Given the description of an element on the screen output the (x, y) to click on. 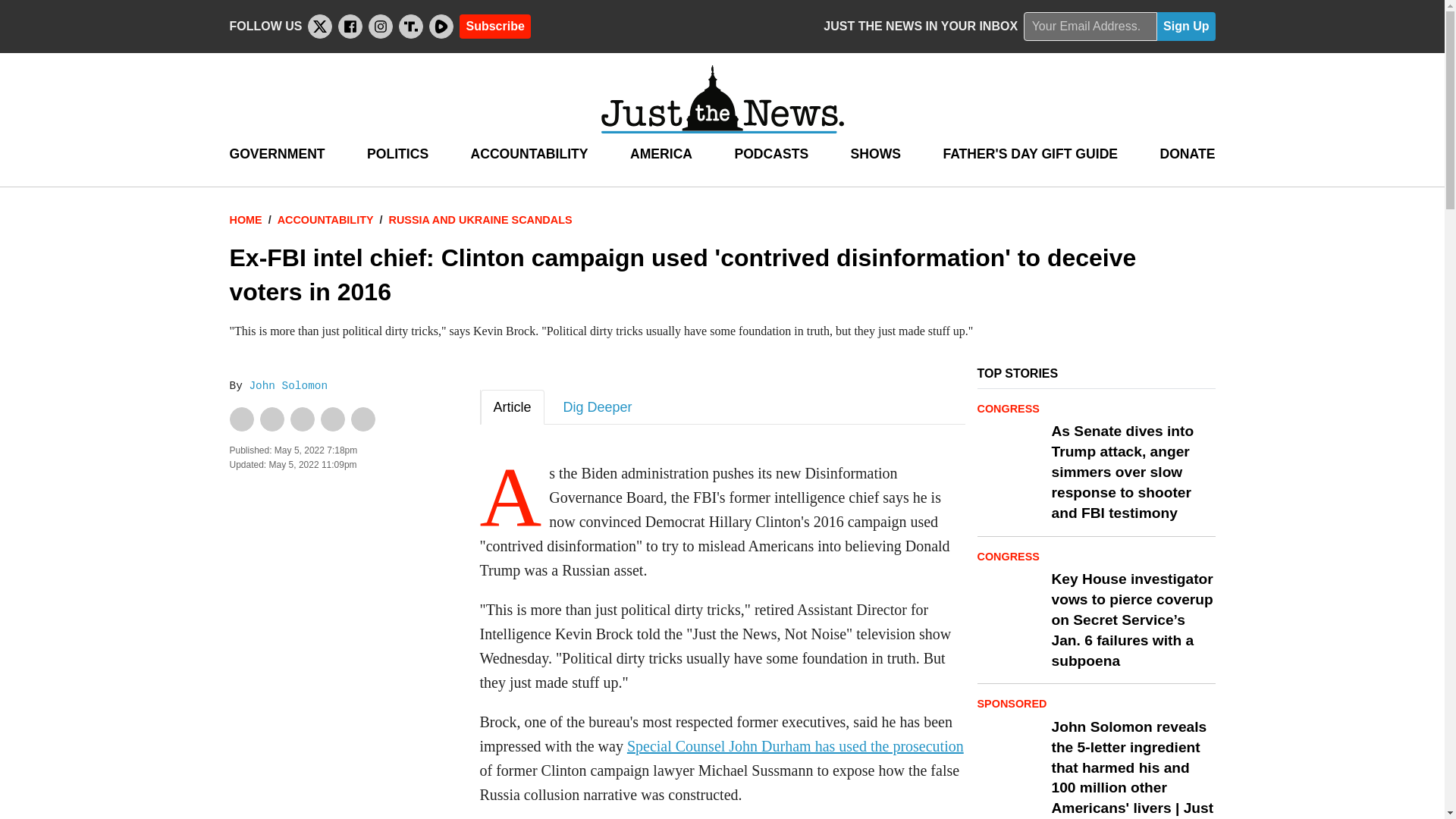
POLITICS (397, 153)
PODCASTS (770, 153)
Sign Up (1185, 26)
AMERICA (661, 153)
GOVERNMENT (276, 153)
Subscribe (494, 26)
FATHER'S DAY GIFT GUIDE (1030, 153)
SHOWS (875, 153)
DONATE (1186, 153)
Sign Up (1185, 26)
ACCOUNTABILITY (529, 153)
